Given the description of an element on the screen output the (x, y) to click on. 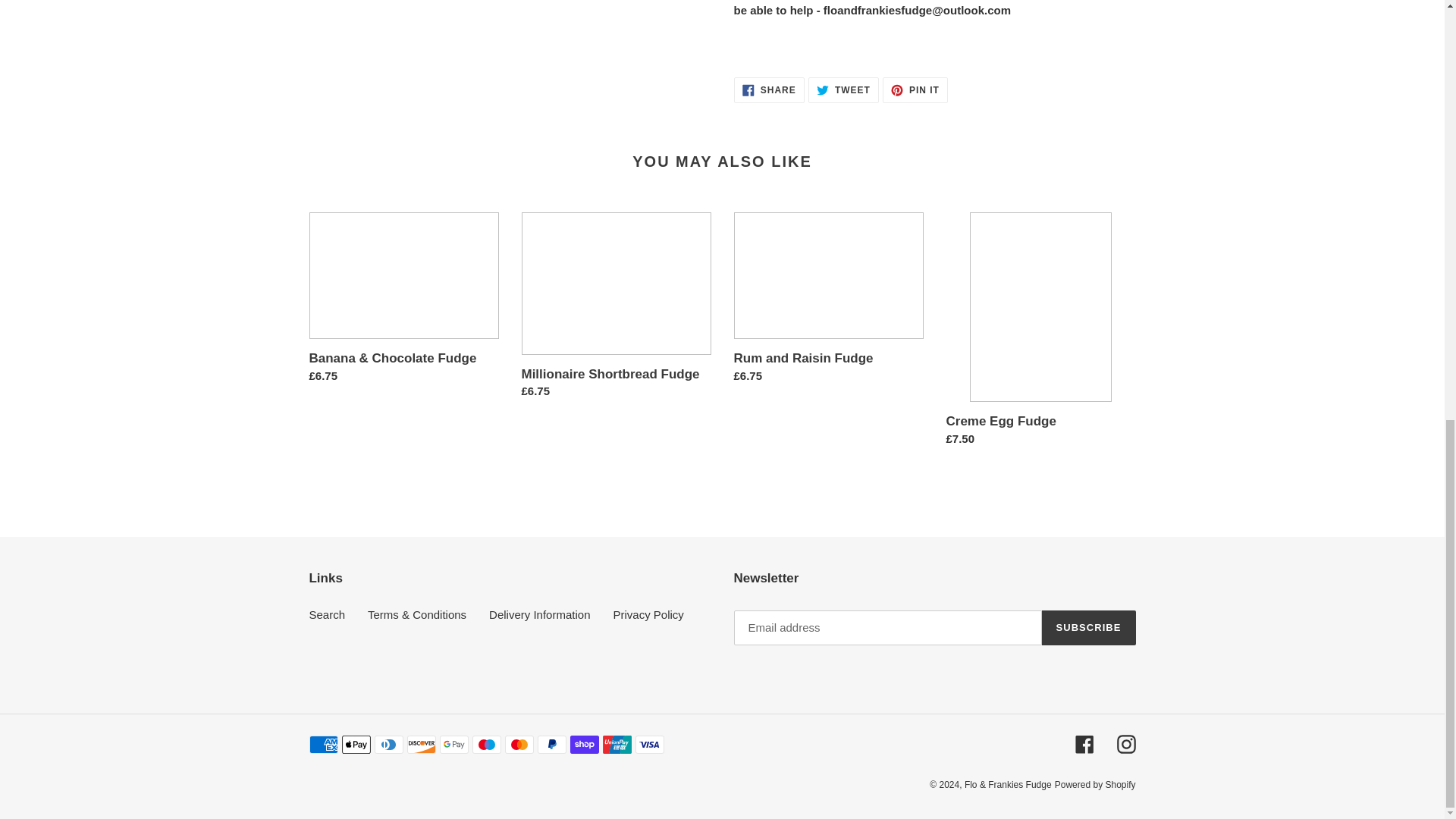
Rum and Raisin Fudge (769, 89)
Creme Egg Fudge (843, 89)
Millionaire Shortbread Fudge (914, 89)
